Given the description of an element on the screen output the (x, y) to click on. 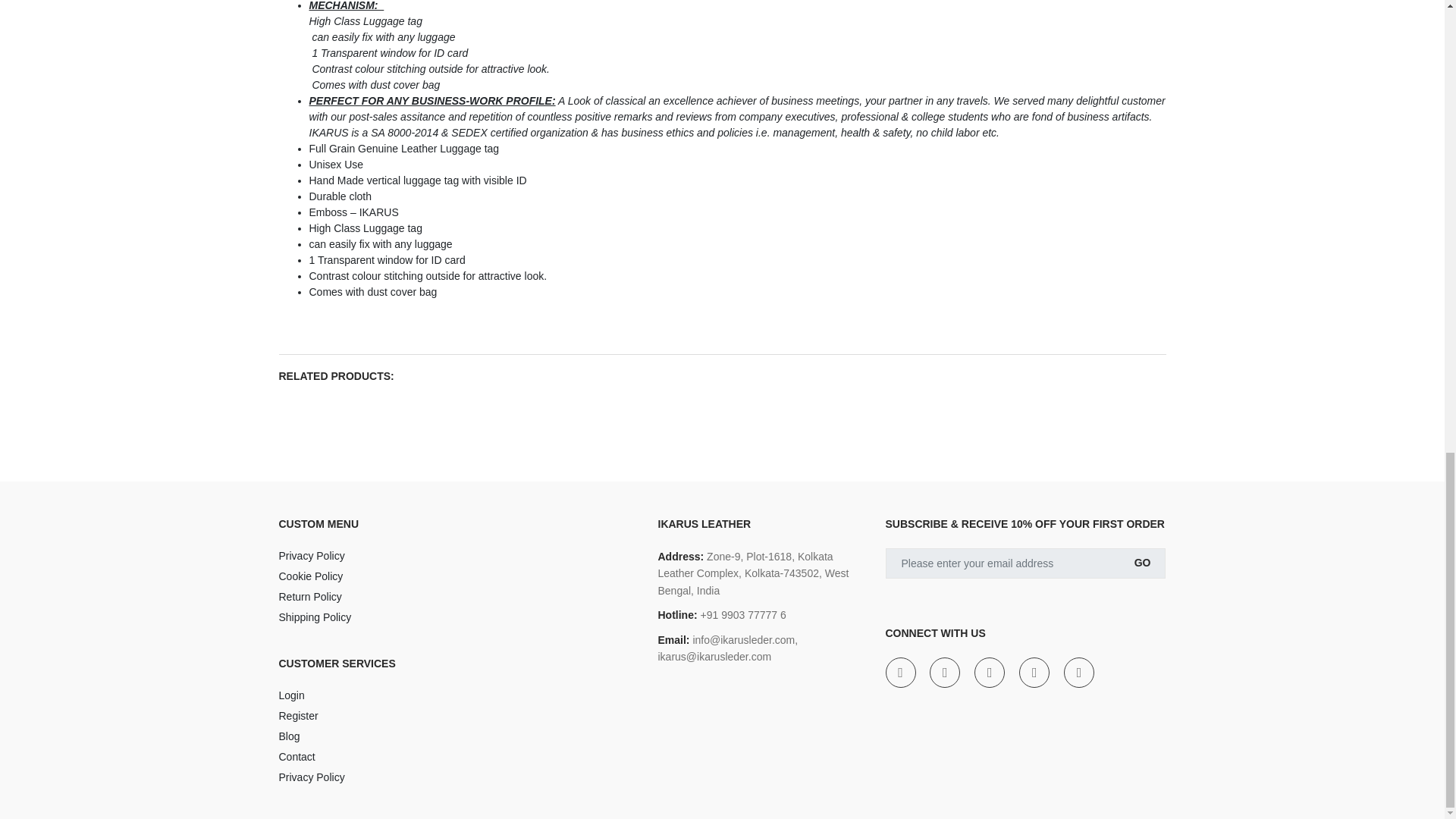
Privacy Policy (456, 555)
Cookie Policy (456, 575)
Return Policy (456, 596)
